Given the description of an element on the screen output the (x, y) to click on. 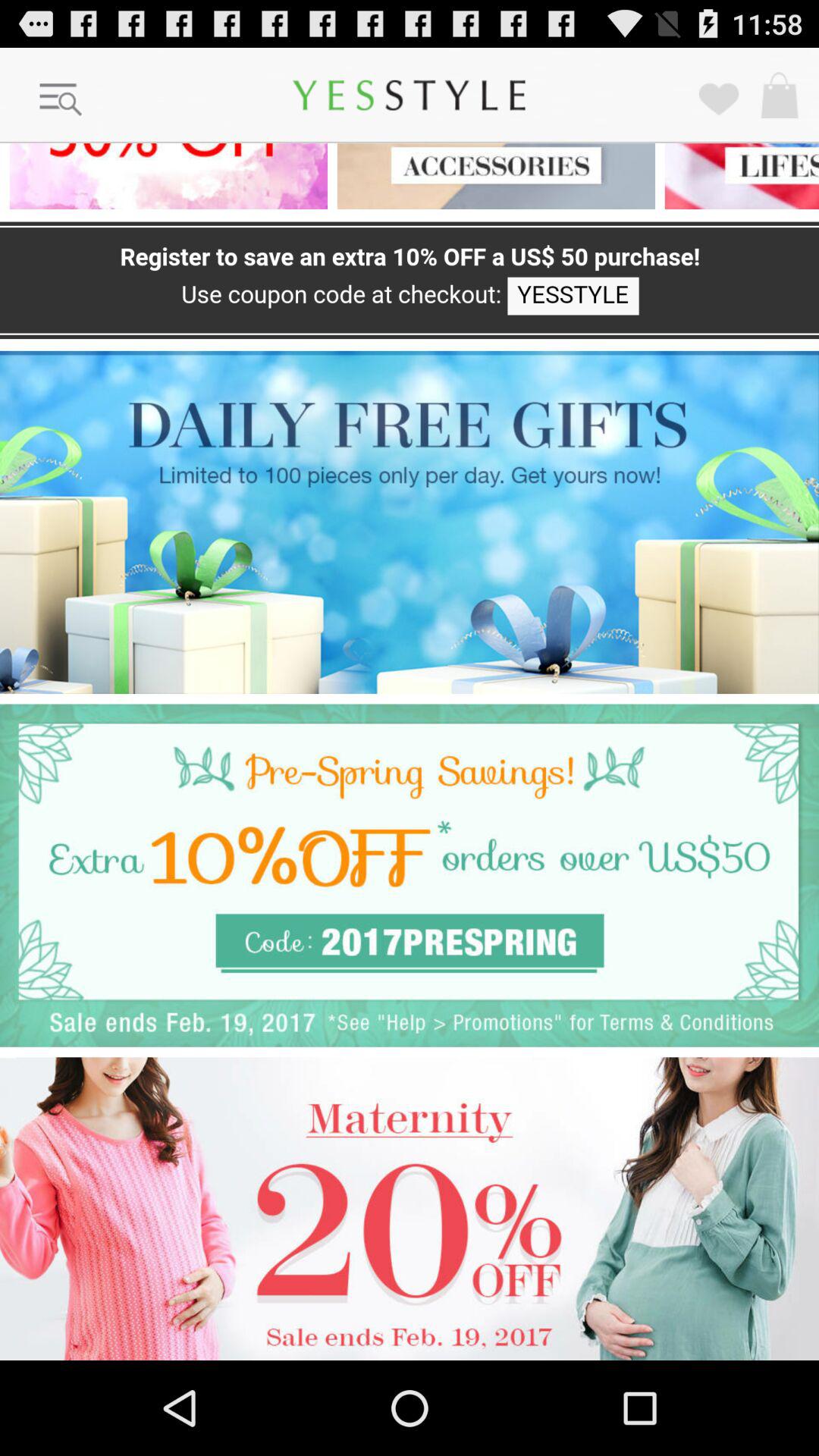
advertisement for 20 off (409, 1208)
